Given the description of an element on the screen output the (x, y) to click on. 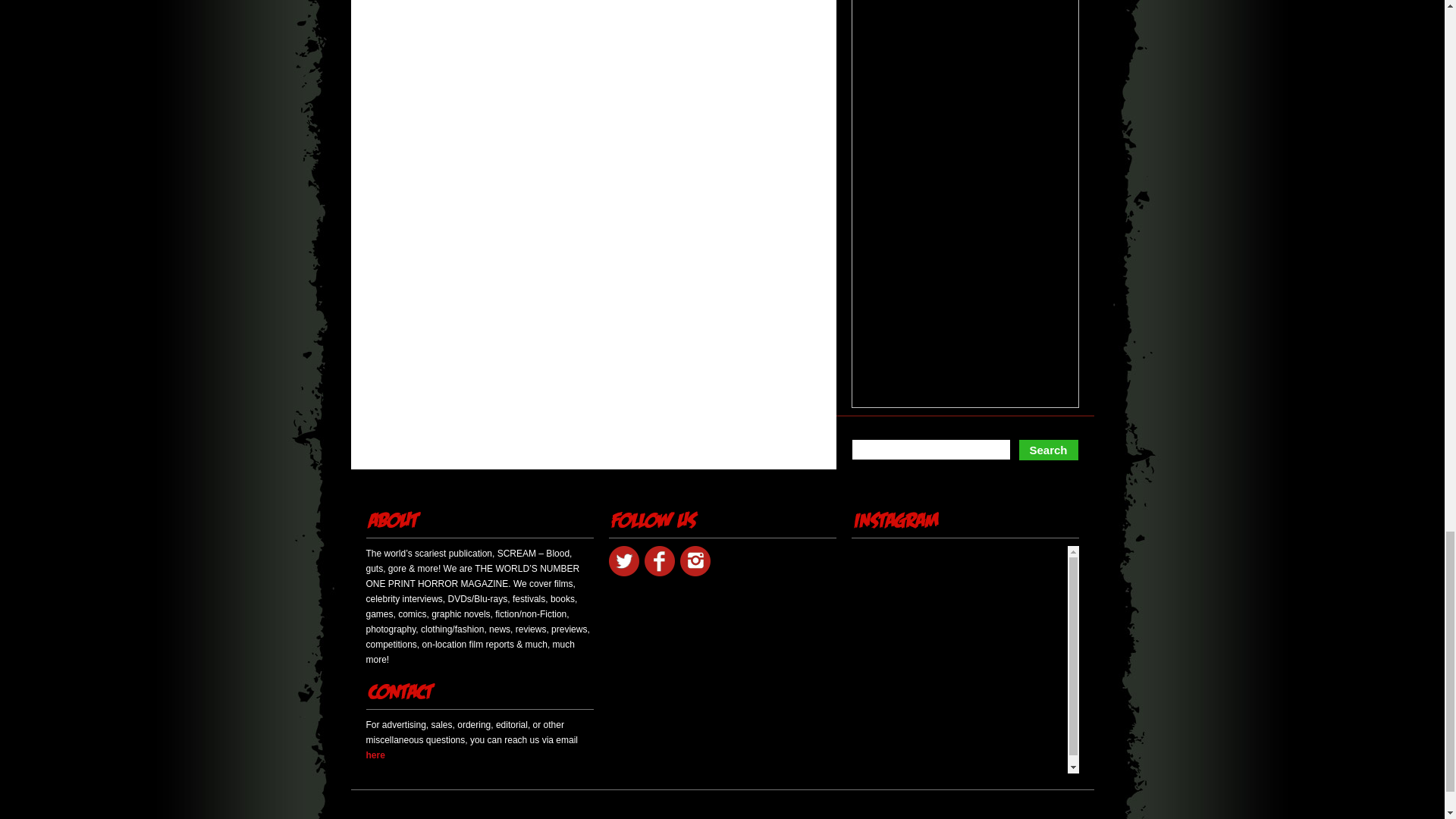
Search (1047, 449)
Search (1047, 449)
here (374, 755)
